Given the description of an element on the screen output the (x, y) to click on. 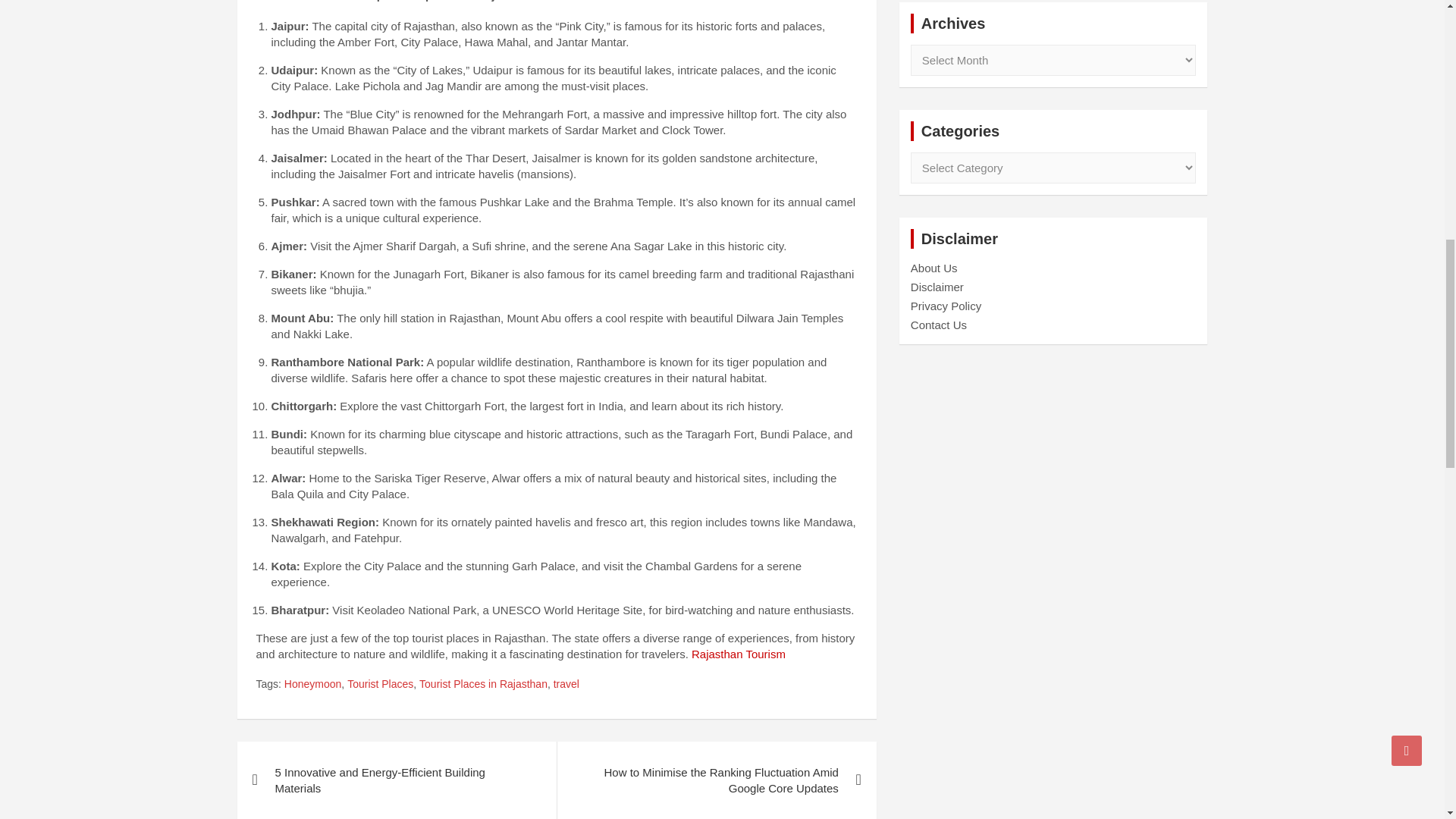
travel (566, 684)
5 Innovative and Energy-Efficient Building Materials (395, 780)
Honeymoon (312, 684)
Rajasthan Tourism (738, 653)
Tourist Places in Rajasthan (483, 684)
Tourist Places (380, 684)
